Given the description of an element on the screen output the (x, y) to click on. 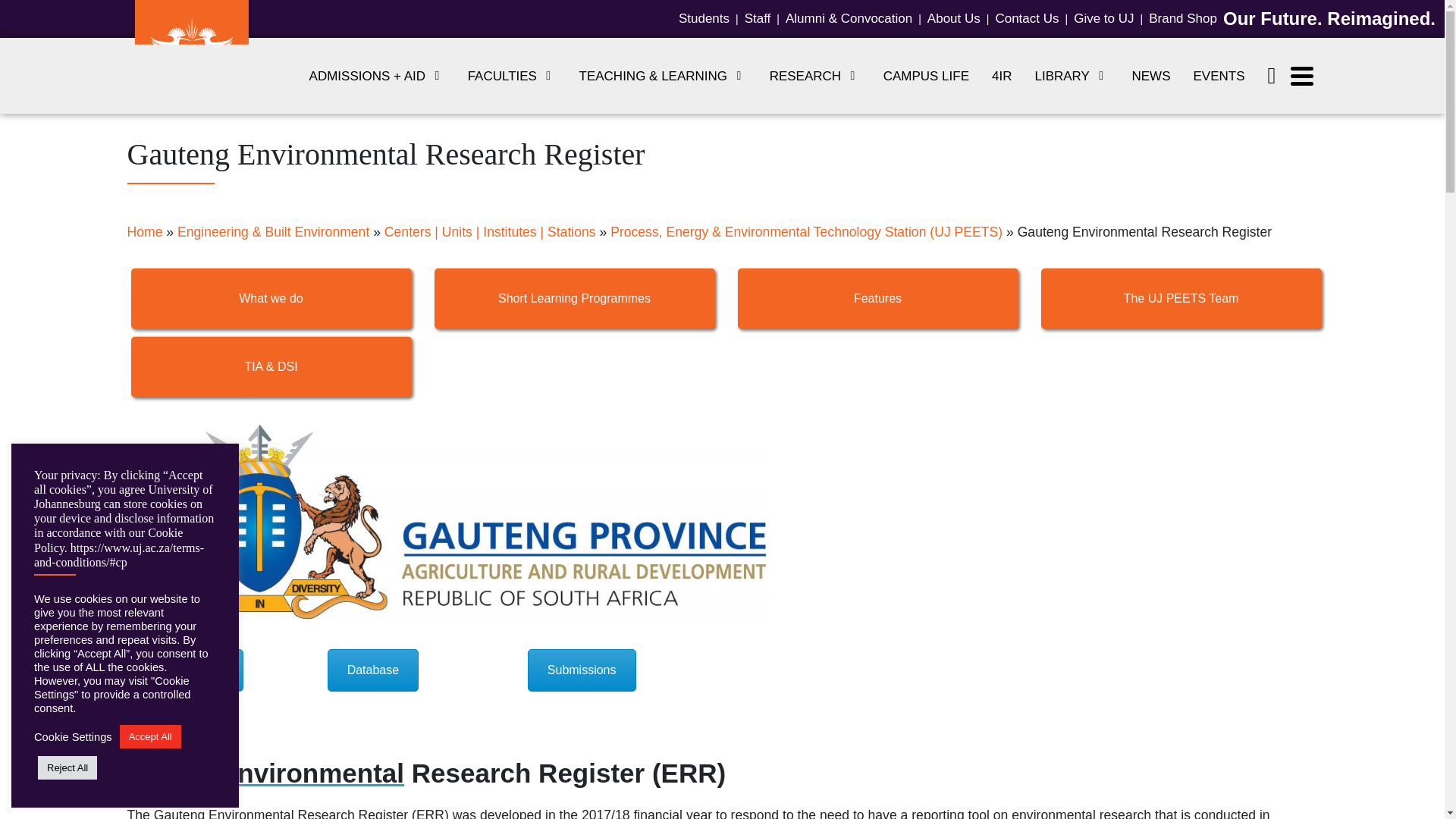
Contact Us (1026, 18)
Evidence Map (185, 670)
About Us (954, 18)
Staff (757, 18)
FACULTIES (512, 75)
RESEARCH (815, 75)
Students (703, 18)
Give to UJ (1103, 18)
Brand Shop (1182, 18)
Database (373, 670)
